Given the description of an element on the screen output the (x, y) to click on. 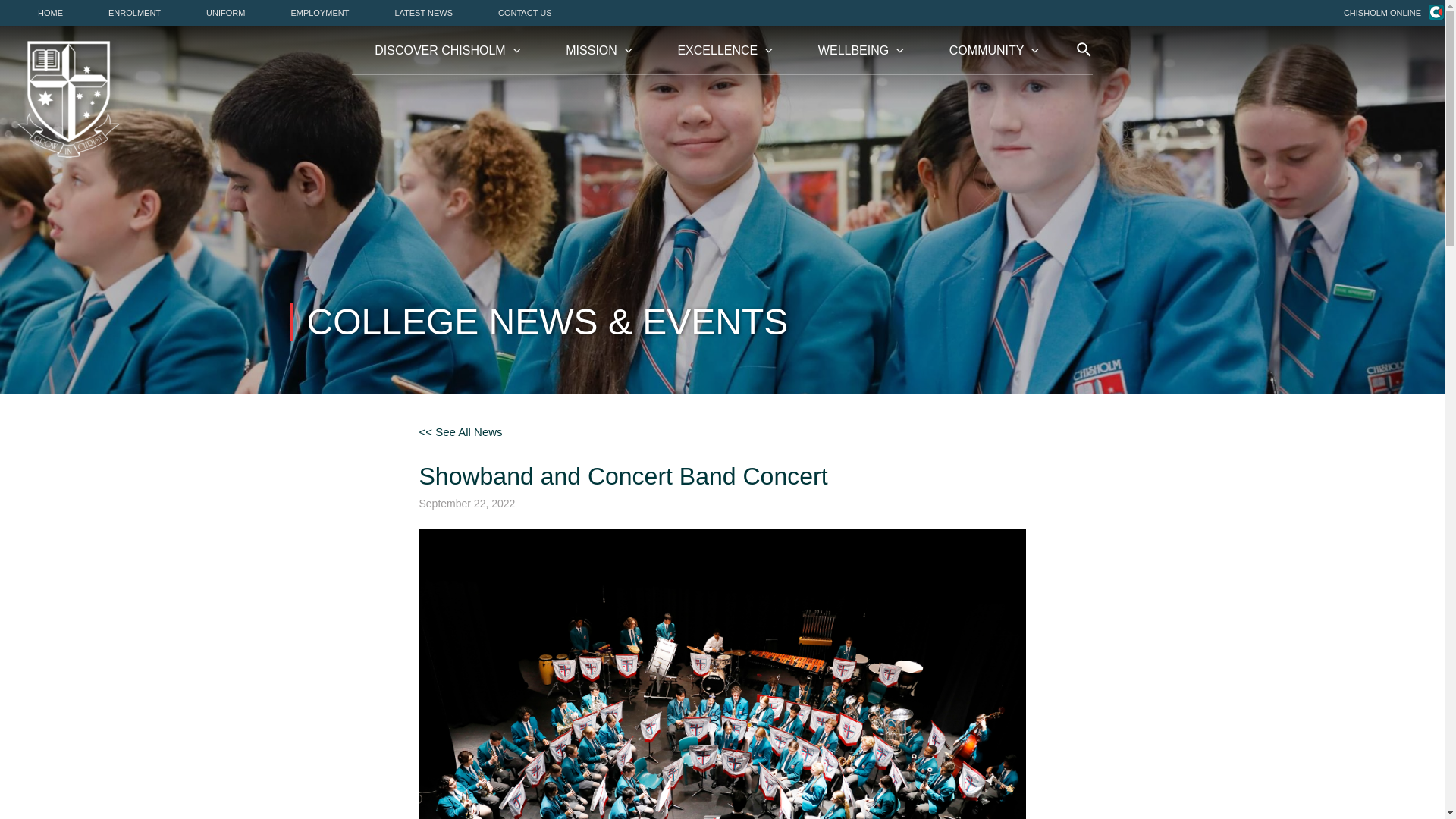
UNIFORM (225, 12)
CONTACT US (525, 12)
LATEST NEWS (423, 12)
HOME (49, 12)
ENROLMENT (134, 12)
Search (50, 27)
EMPLOYMENT (319, 12)
CHISHOLM ONLINE (1382, 12)
